Given the description of an element on the screen output the (x, y) to click on. 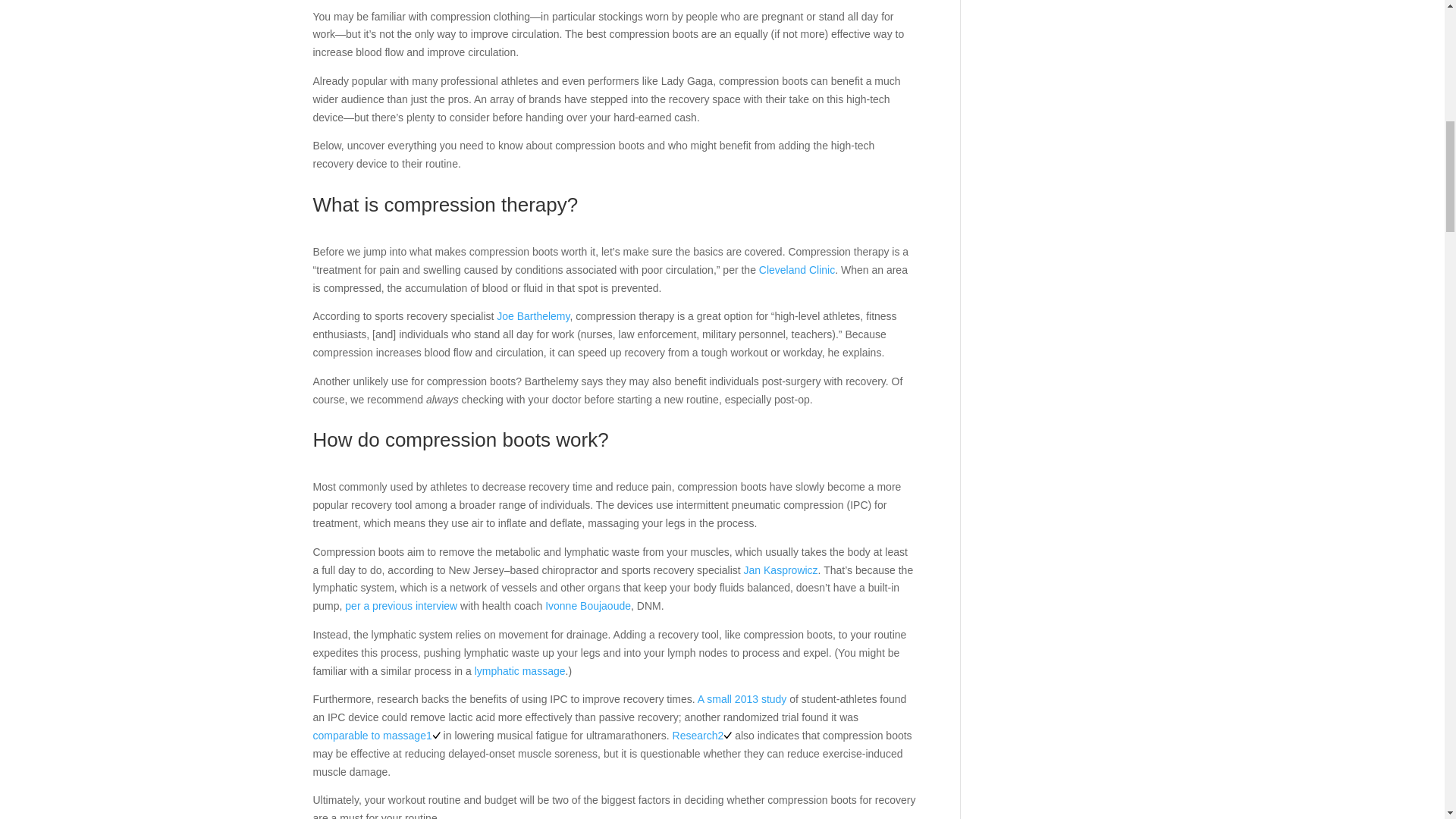
lymphatic massage (520, 671)
A small 2013 study (742, 698)
2 (724, 735)
per a previous interview (401, 605)
comparable to massage (369, 735)
1 (433, 735)
Cleveland Clinic (796, 269)
Jan Kasprowicz (781, 570)
Ivonne Boujaoude (587, 605)
Joe Barthelemy (532, 316)
